Given the description of an element on the screen output the (x, y) to click on. 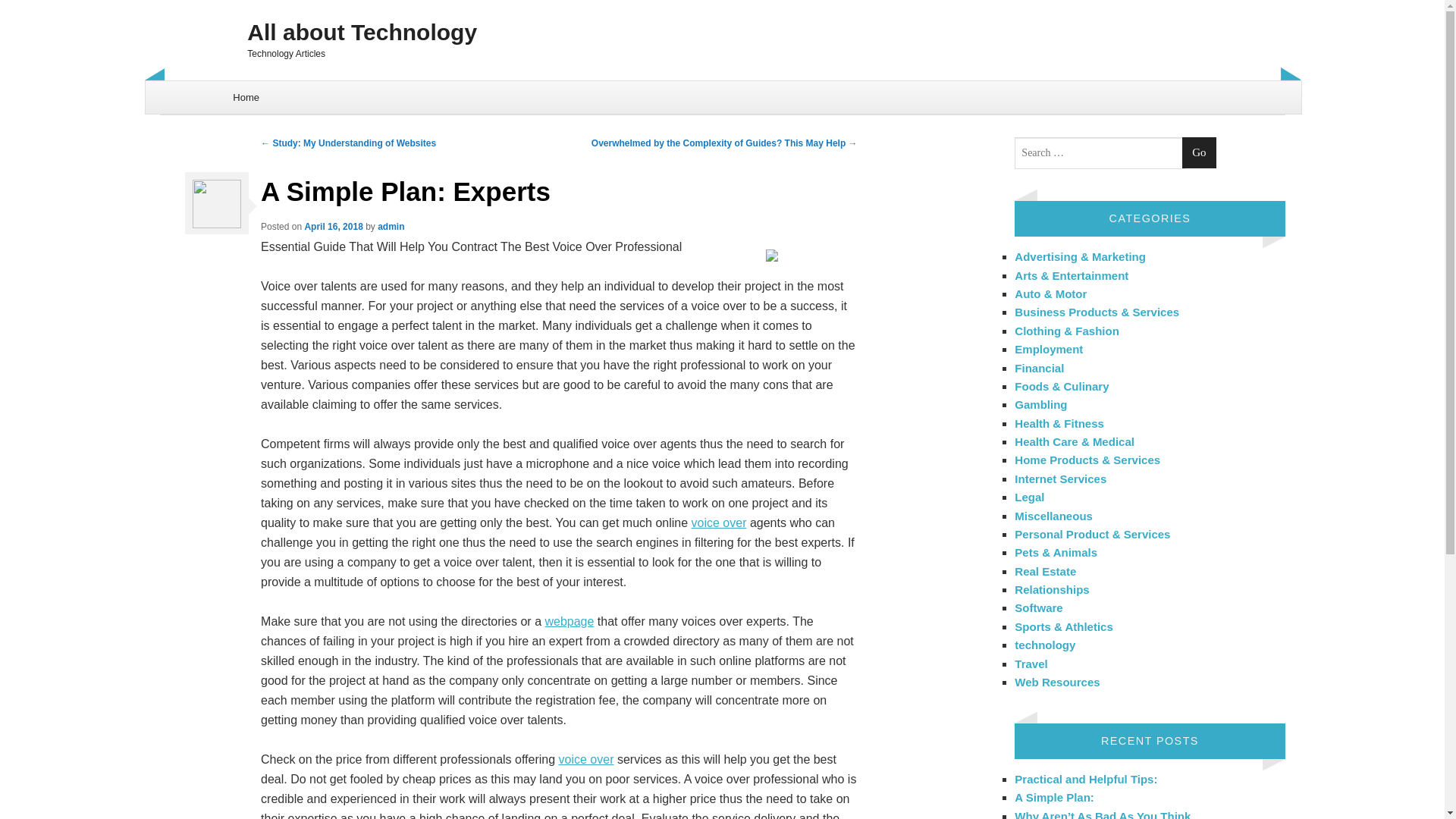
Skip to content (183, 89)
voice over (586, 758)
webpage (569, 621)
voice over (718, 522)
Go (1198, 152)
All about Technology (721, 31)
Legal (1028, 496)
View all posts by admin (390, 226)
Financial (1039, 367)
Home (246, 97)
Internet Services (1060, 478)
April 16, 2018 (333, 226)
Real Estate (1044, 571)
Web Resources (1056, 681)
admin (390, 226)
